Given the description of an element on the screen output the (x, y) to click on. 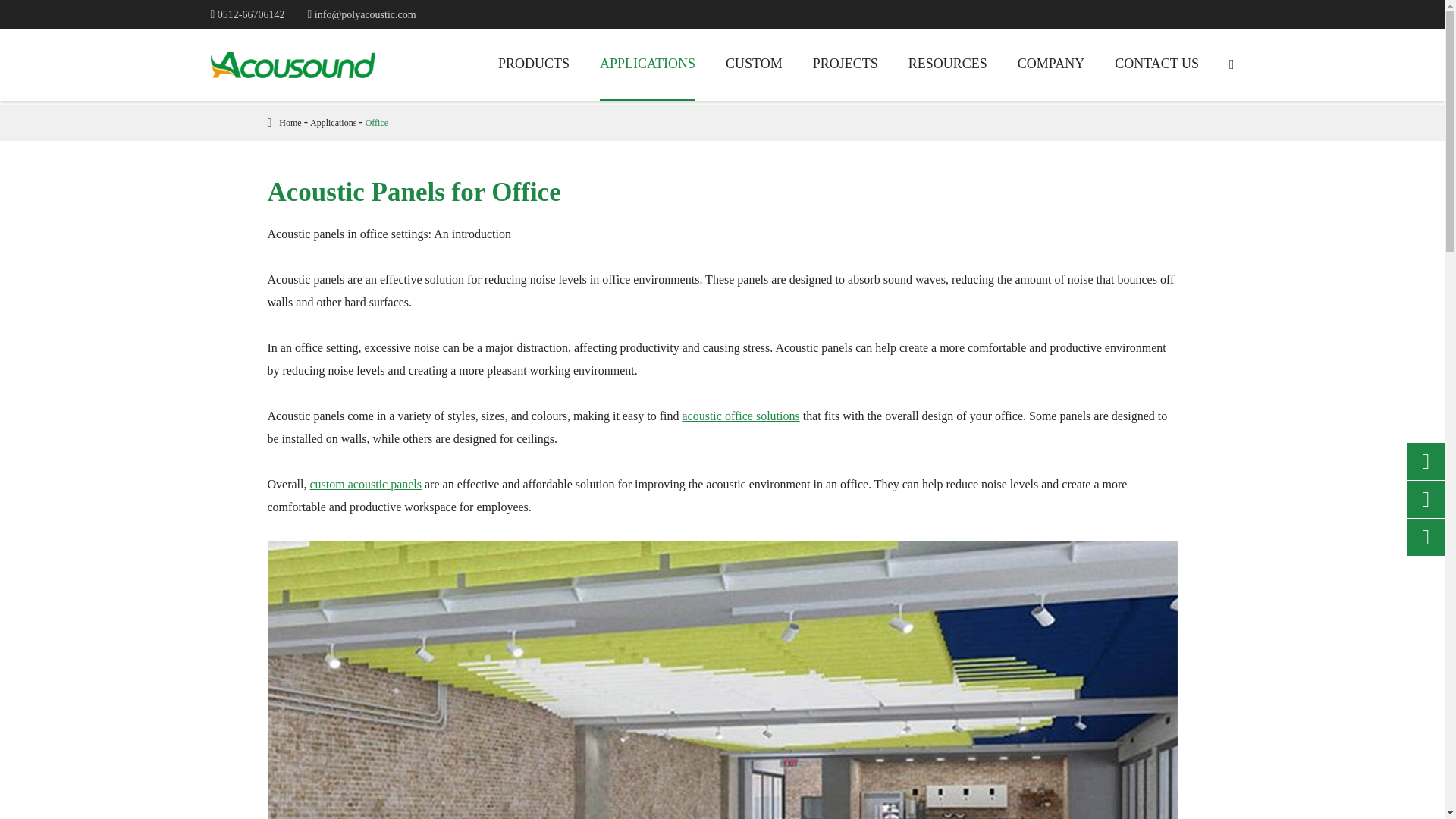
Applications (333, 122)
Suzhou Acousound New Material Technology Inc. (293, 64)
Office (376, 122)
